Given the description of an element on the screen output the (x, y) to click on. 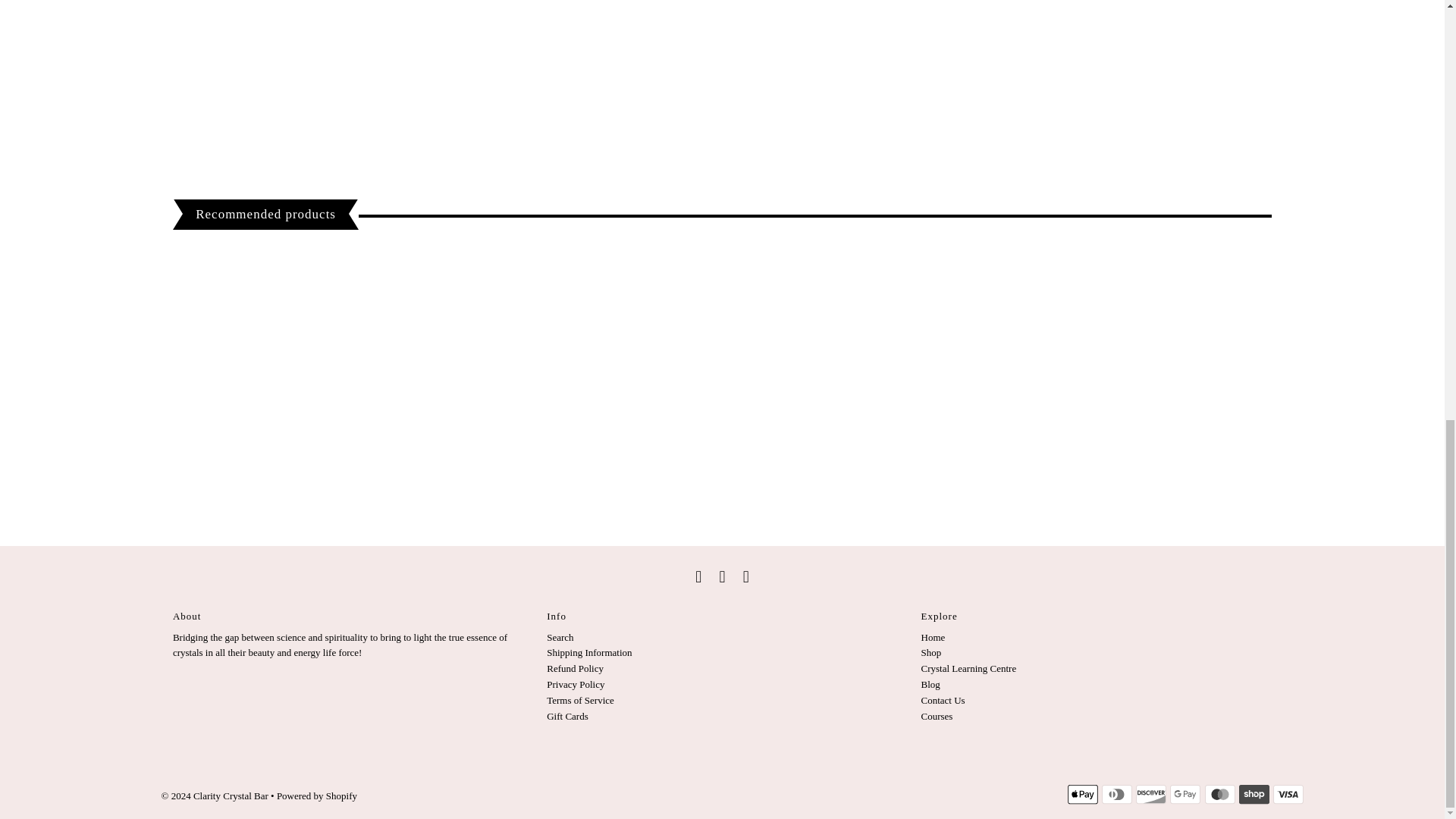
Mastercard (1219, 794)
Apple Pay (1082, 794)
Diners Club (1117, 794)
Google Pay (1184, 794)
Visa (1287, 794)
Shop Pay (1254, 794)
Discover (1150, 794)
